Given the description of an element on the screen output the (x, y) to click on. 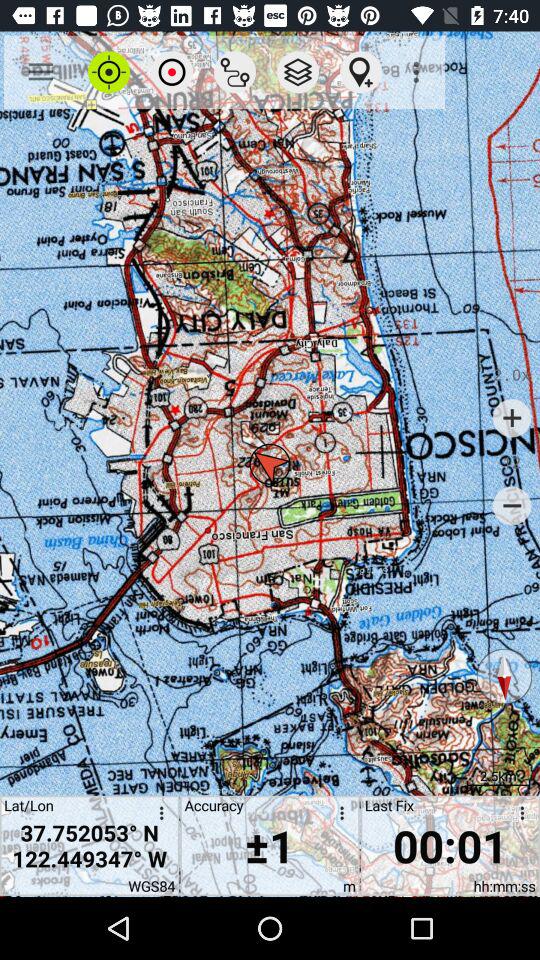
launch the icon below the 12 (512, 505)
